Given the description of an element on the screen output the (x, y) to click on. 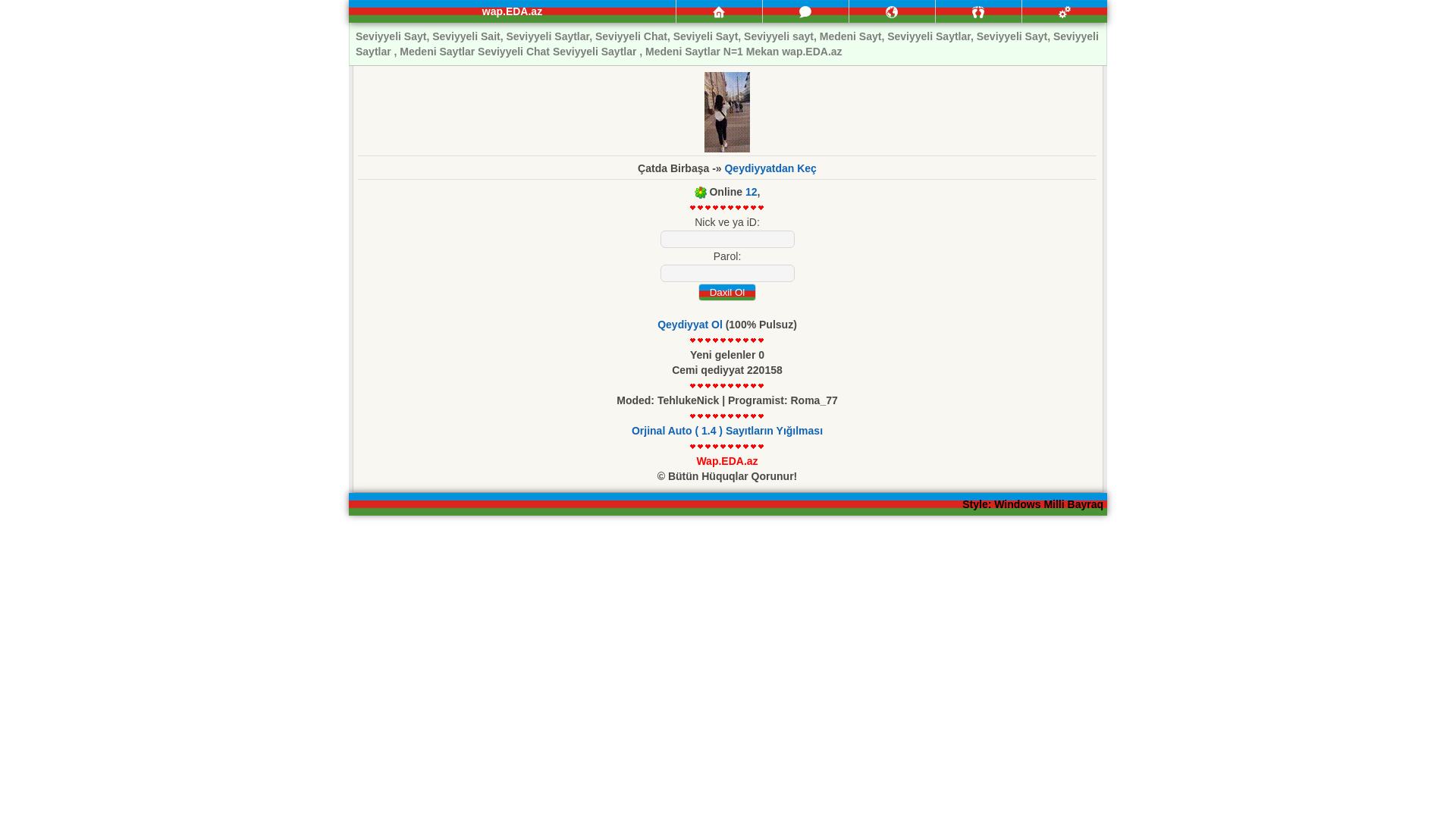
12 Element type: text (751, 191)
Ana Sehife Element type: hover (719, 11)
Mektublar Element type: hover (891, 12)
Mesajlar Element type: hover (805, 12)
Parol Element type: hover (726, 273)
Mesajlar Element type: hover (805, 11)
Qonaqlar Element type: hover (978, 12)
Daxil Ol Element type: text (726, 292)
nick Element type: hover (726, 238)
Ana Sehife Element type: hover (718, 12)
Qonaqlar Element type: hover (978, 11)
Mektublar Element type: hover (892, 11)
Wap.EDA.az Element type: text (726, 461)
Style: Windows Milli Bayraq Element type: text (1032, 504)
Qeydiyyat Ol Element type: text (689, 324)
